Given the description of an element on the screen output the (x, y) to click on. 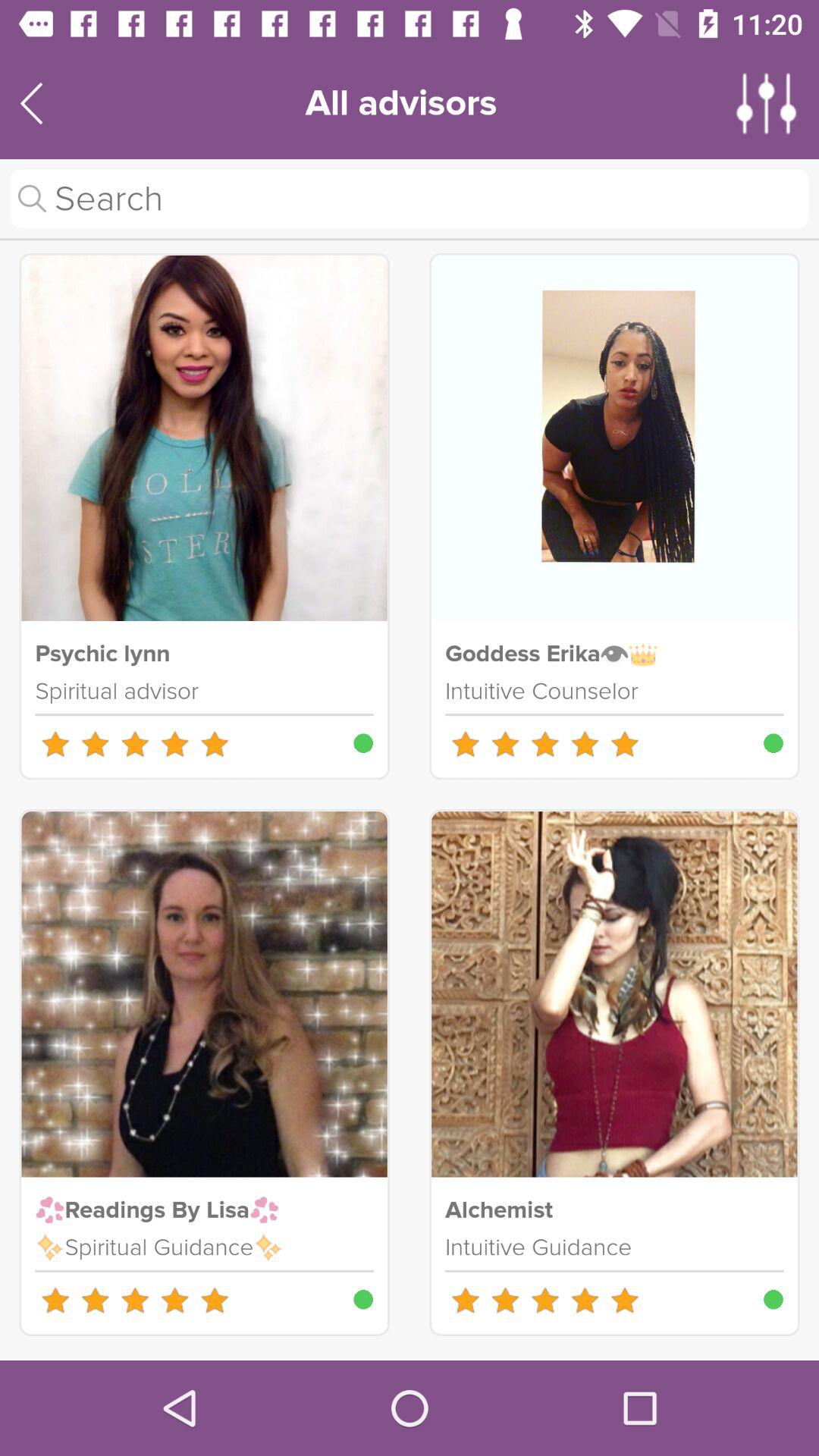
select the five star rating which is under the last image (544, 1299)
click on the start options which is below the text intuitive counselor (544, 742)
go to second image in second row (614, 993)
select an image which is at first right side of the page (614, 438)
